Given the description of an element on the screen output the (x, y) to click on. 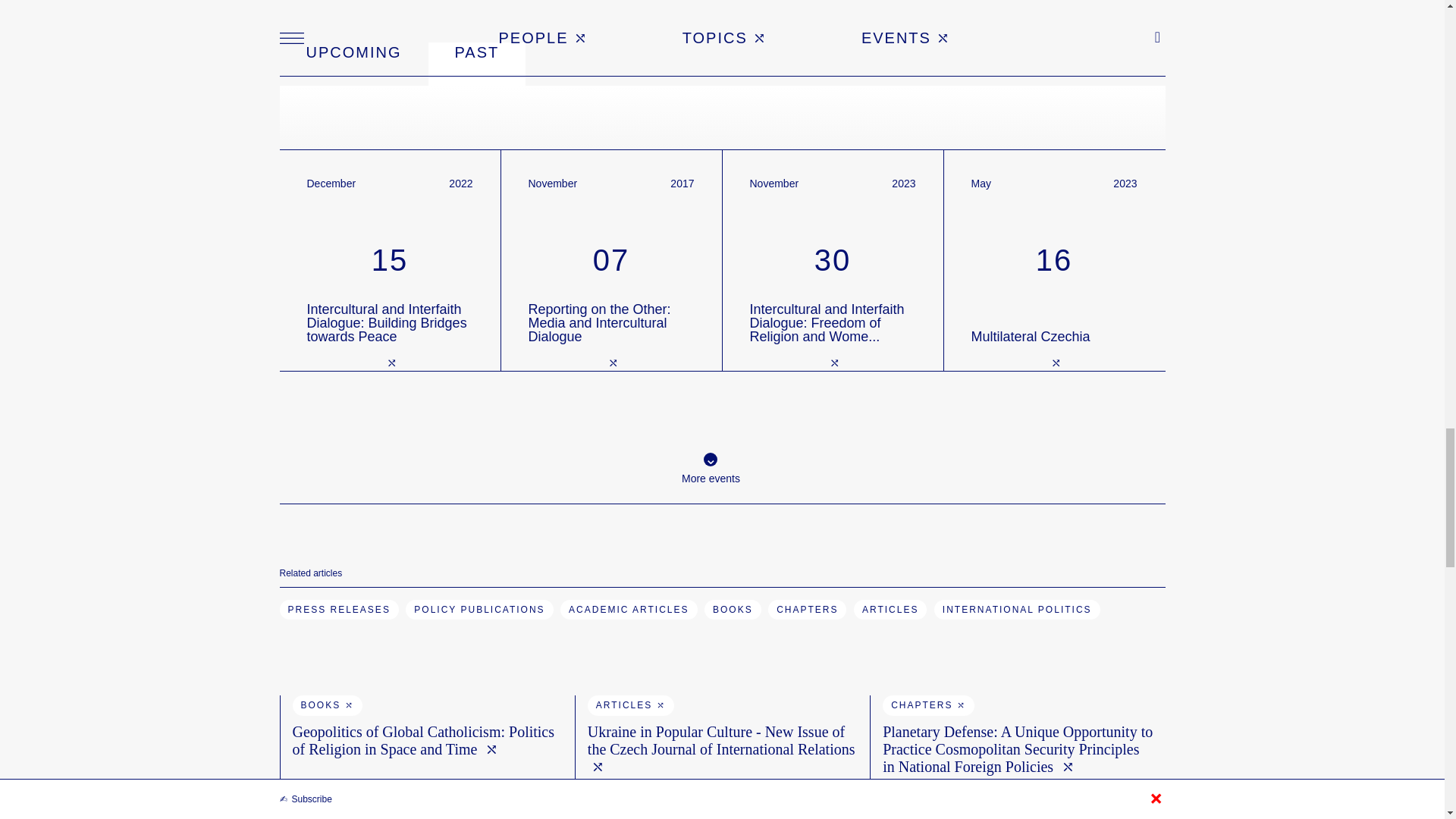
BOOKS (1053, 260)
